Given the description of an element on the screen output the (x, y) to click on. 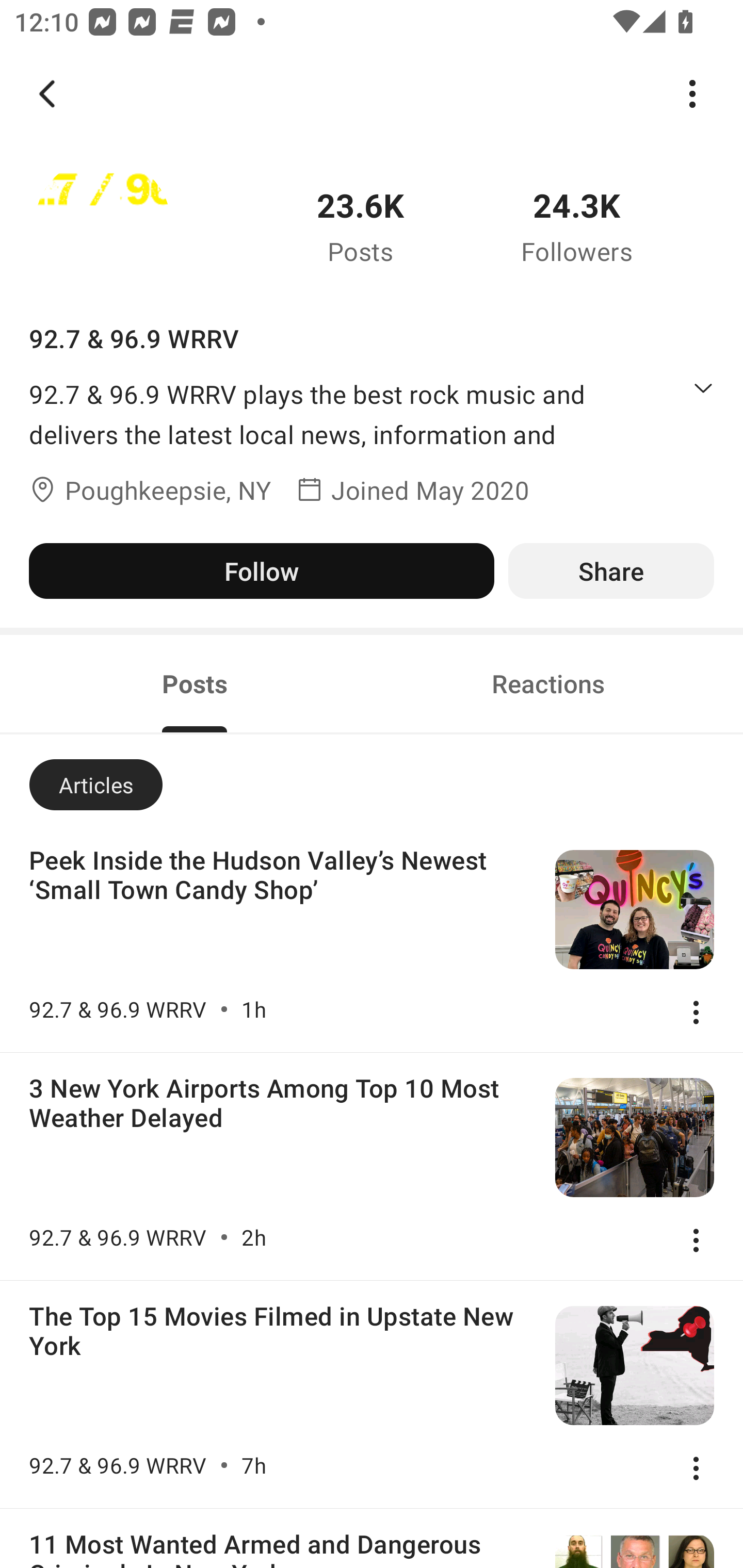
Follow (261, 570)
Share (611, 570)
Reactions (548, 683)
